Given the description of an element on the screen output the (x, y) to click on. 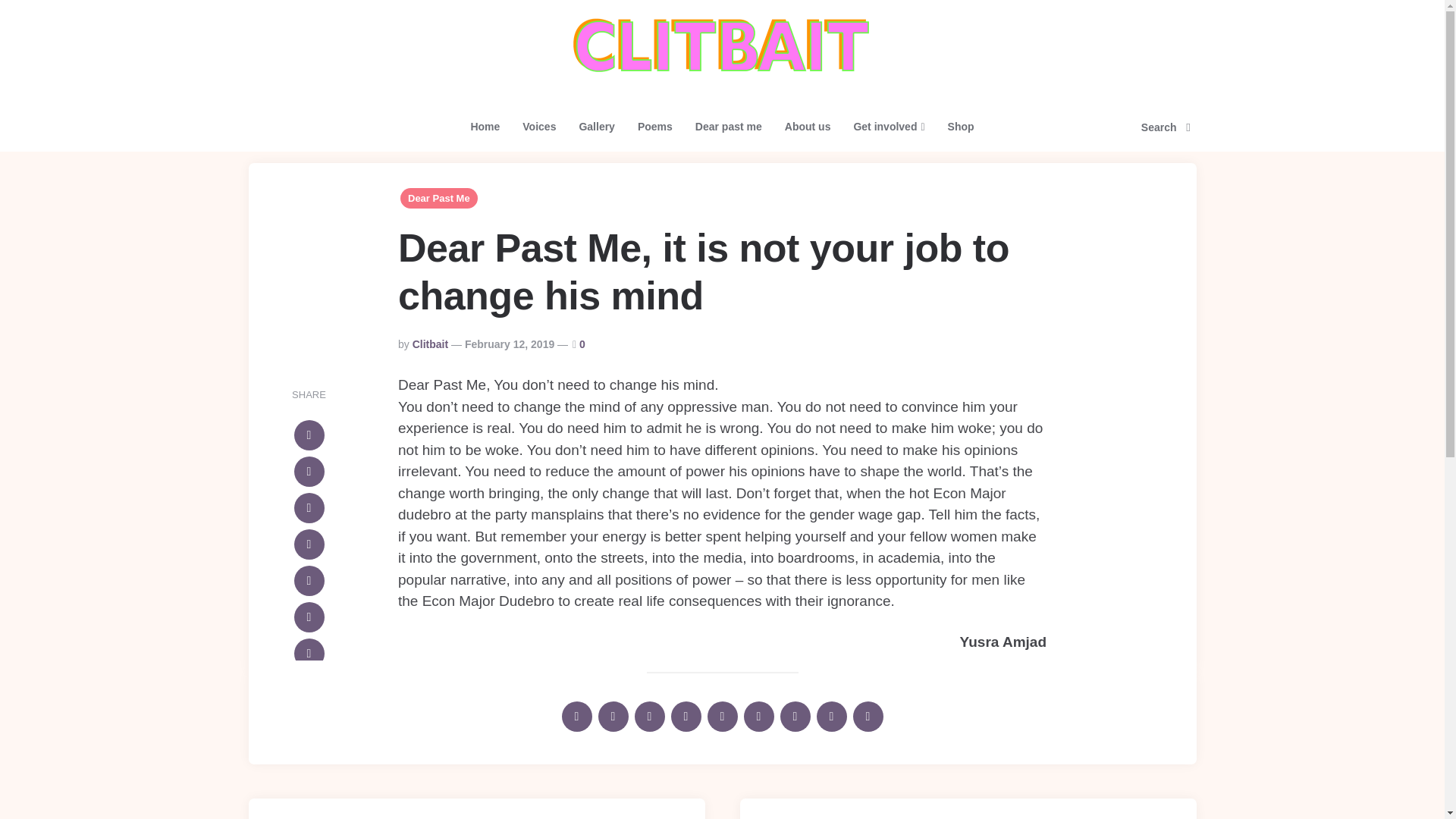
Voices (539, 127)
Gallery (596, 127)
Home (484, 127)
Poems (655, 127)
Dear past me (728, 127)
Shop (960, 127)
About us (808, 127)
Get involved (888, 127)
